Given the description of an element on the screen output the (x, y) to click on. 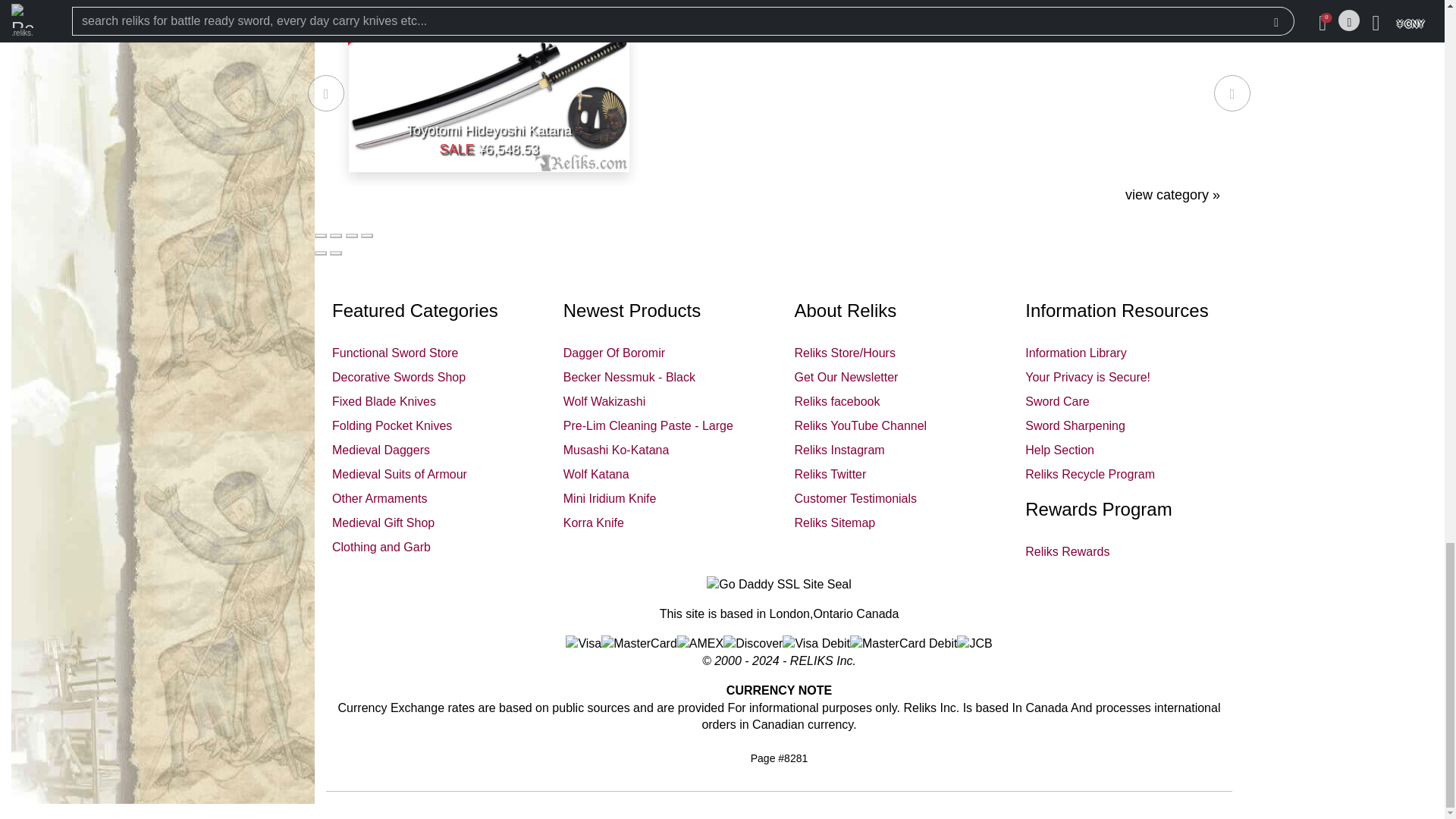
Clothing and Garb (380, 546)
Share (336, 235)
Toggle fullscreen (352, 235)
Other Armaments (378, 498)
Medieval Daggers (380, 449)
Medieval Suits of Armour (399, 473)
Becker Nessmuk - Black (629, 377)
Decorative Swords Shop (398, 377)
Fixed Blade Knives (383, 400)
Wolf Wakizashi (604, 400)
